Given the description of an element on the screen output the (x, y) to click on. 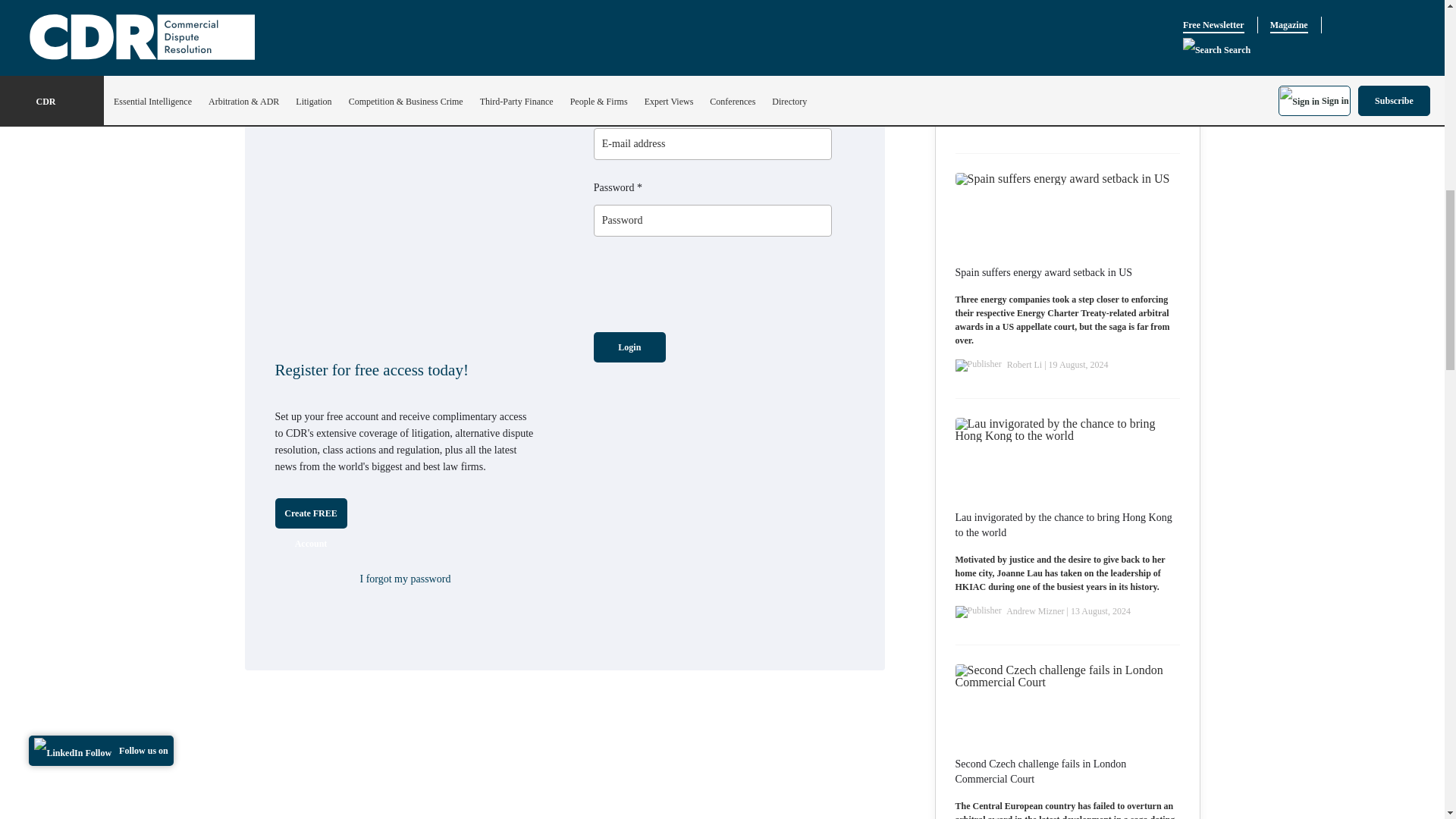
Profile: Meg Kinnear stands up for ISDS (1042, 28)
Login (629, 347)
I forgot my password (404, 578)
Create FREE Account (310, 512)
